Given the description of an element on the screen output the (x, y) to click on. 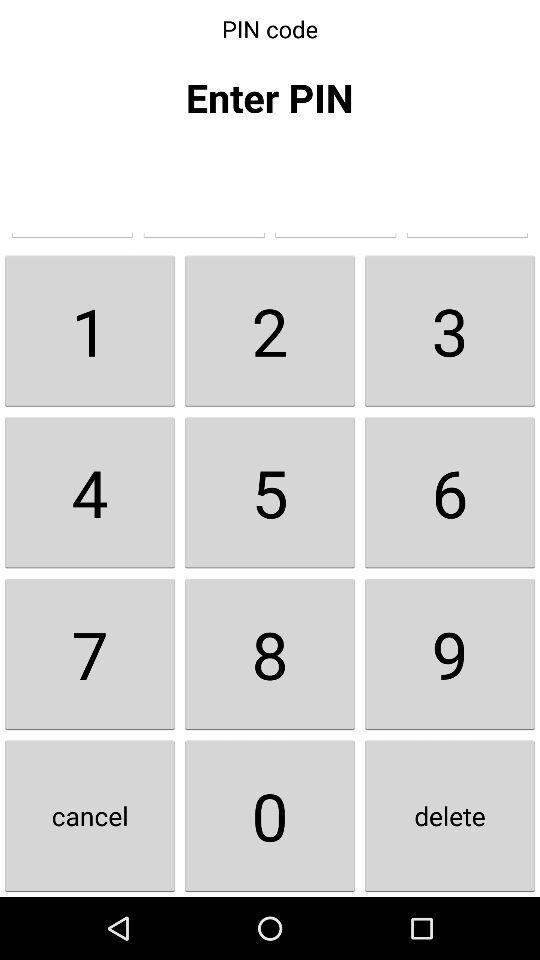
click the item to the right of the 4 icon (270, 654)
